Given the description of an element on the screen output the (x, y) to click on. 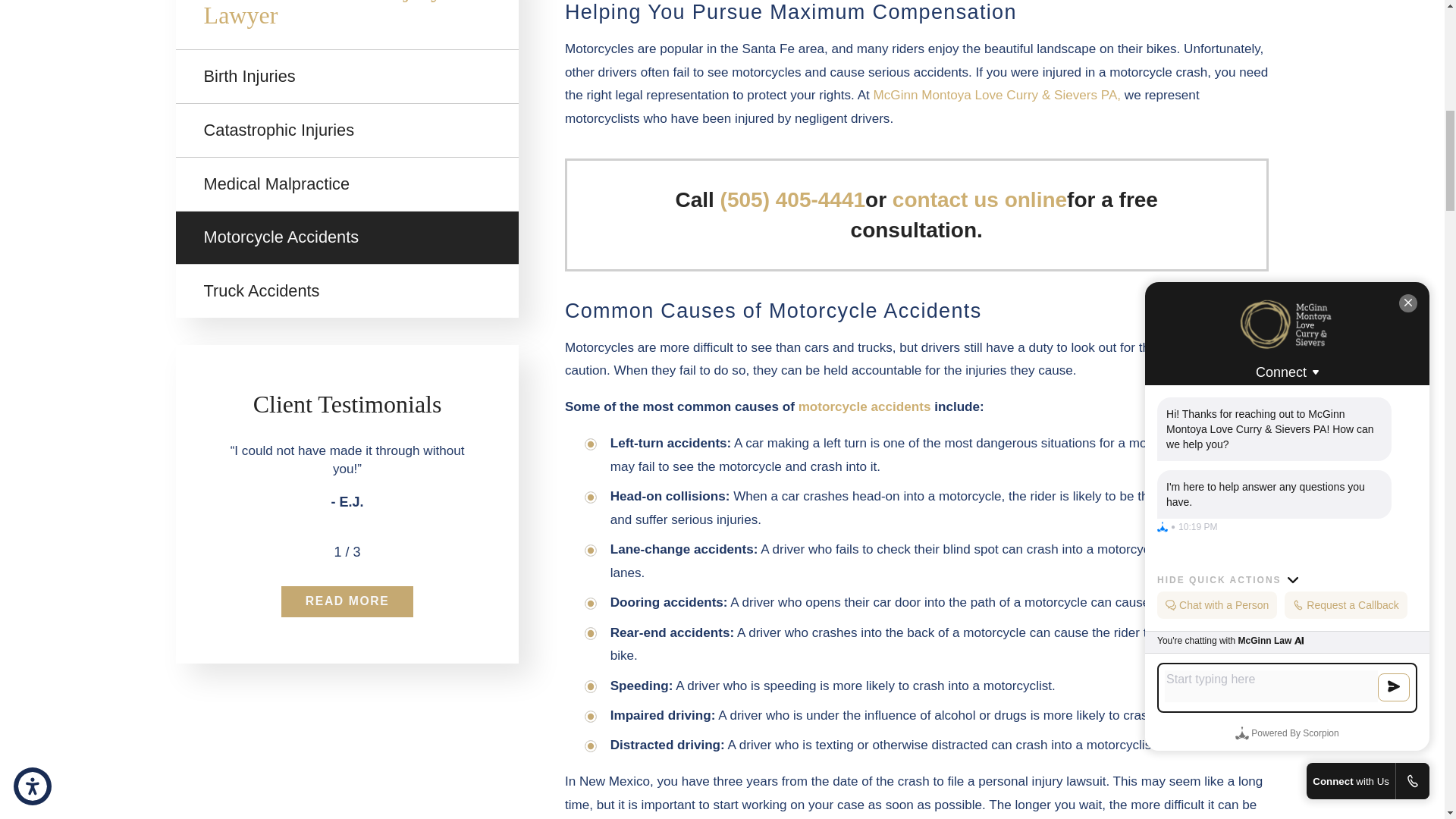
View previous item (310, 551)
View next item (384, 551)
